Given the description of an element on the screen output the (x, y) to click on. 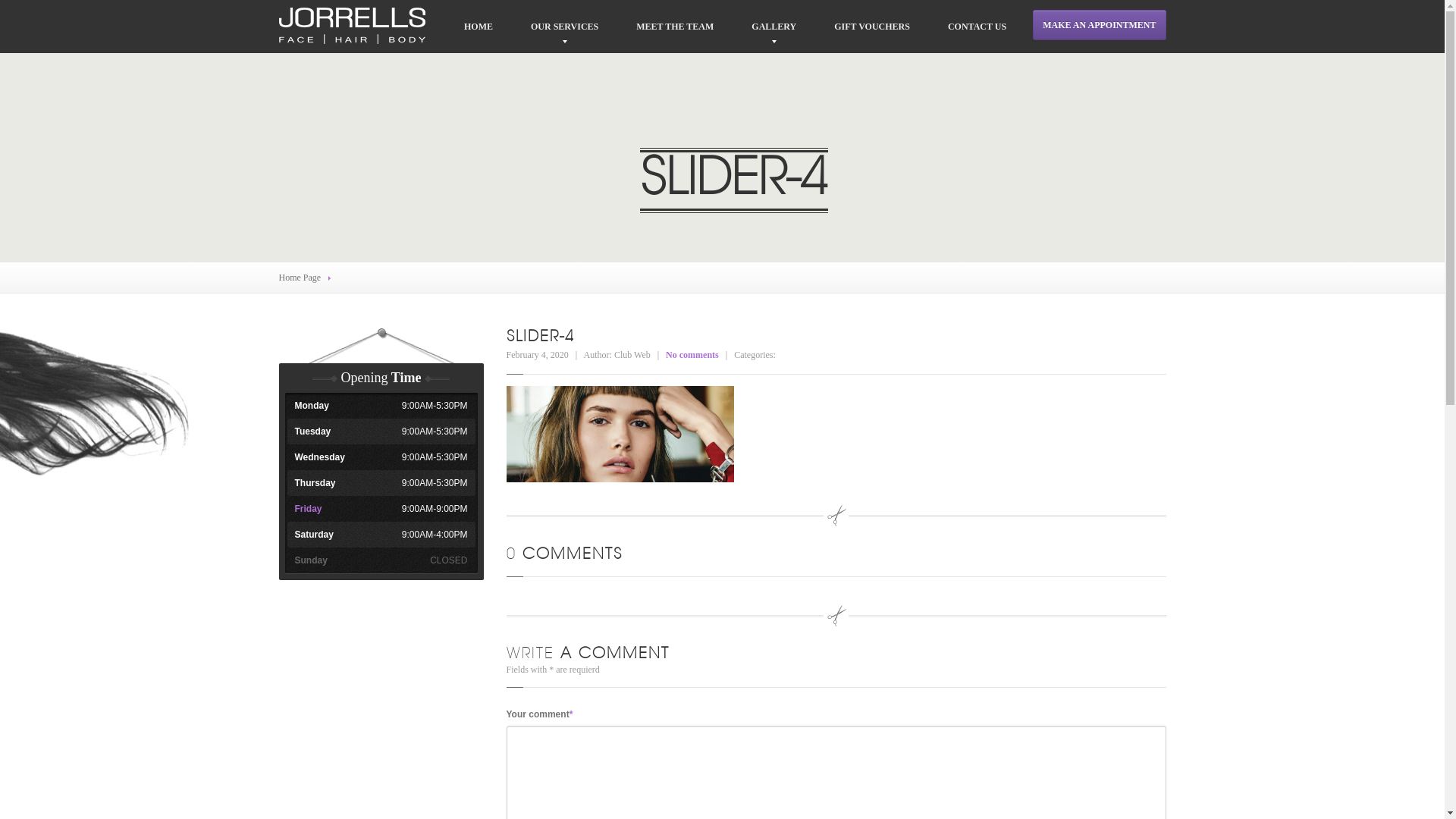
HOME Element type: text (478, 26)
Home Page Element type: text (300, 277)
GIFT VOUCHERS Element type: text (871, 26)
OUR SERVICES Element type: text (564, 26)
GALLERY Element type: text (773, 26)
MAKE AN APPOINTMENT Element type: text (1098, 24)
CONTACT US Element type: text (976, 26)
No comments Element type: text (691, 354)
MEET THE TEAM Element type: text (674, 26)
